Given the description of an element on the screen output the (x, y) to click on. 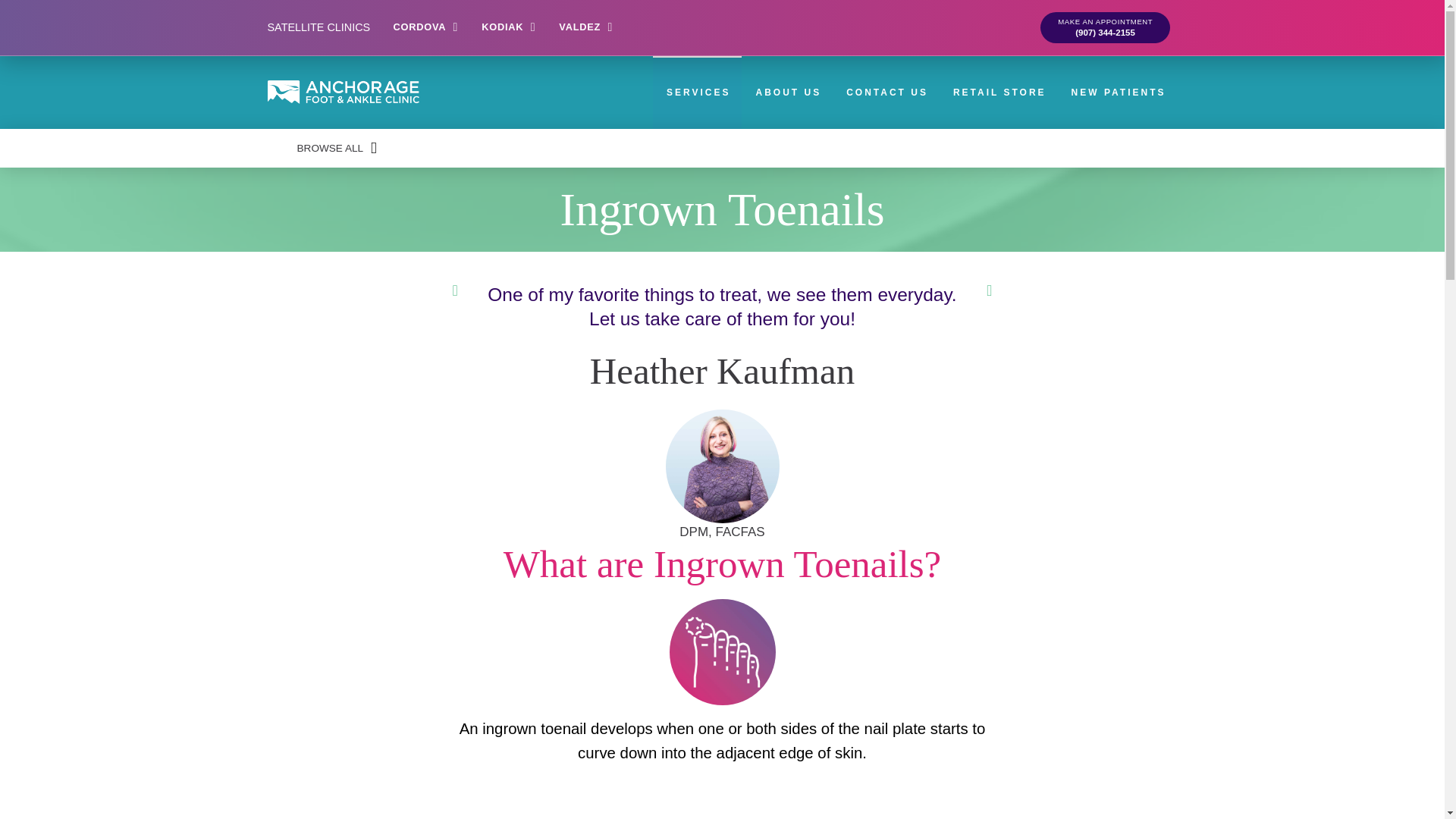
SERVICES (696, 92)
NEW PATIENTS (1117, 92)
CORDOVA (425, 26)
ABOUT US (786, 92)
RETAIL STORE (998, 92)
KODIAK (507, 26)
VALDEZ (585, 26)
CONTACT US (885, 92)
